Given the description of an element on the screen output the (x, y) to click on. 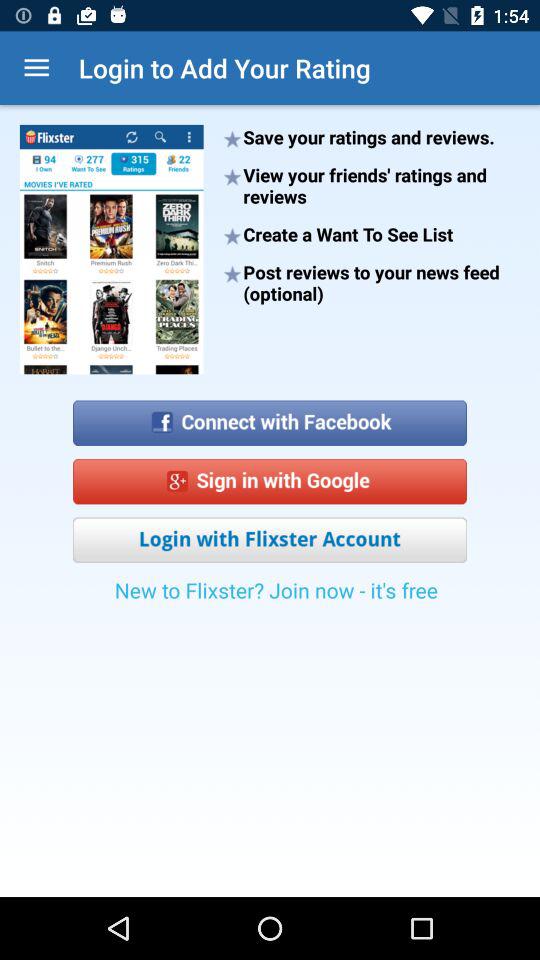
tap the new to flixster icon (276, 596)
